Given the description of an element on the screen output the (x, y) to click on. 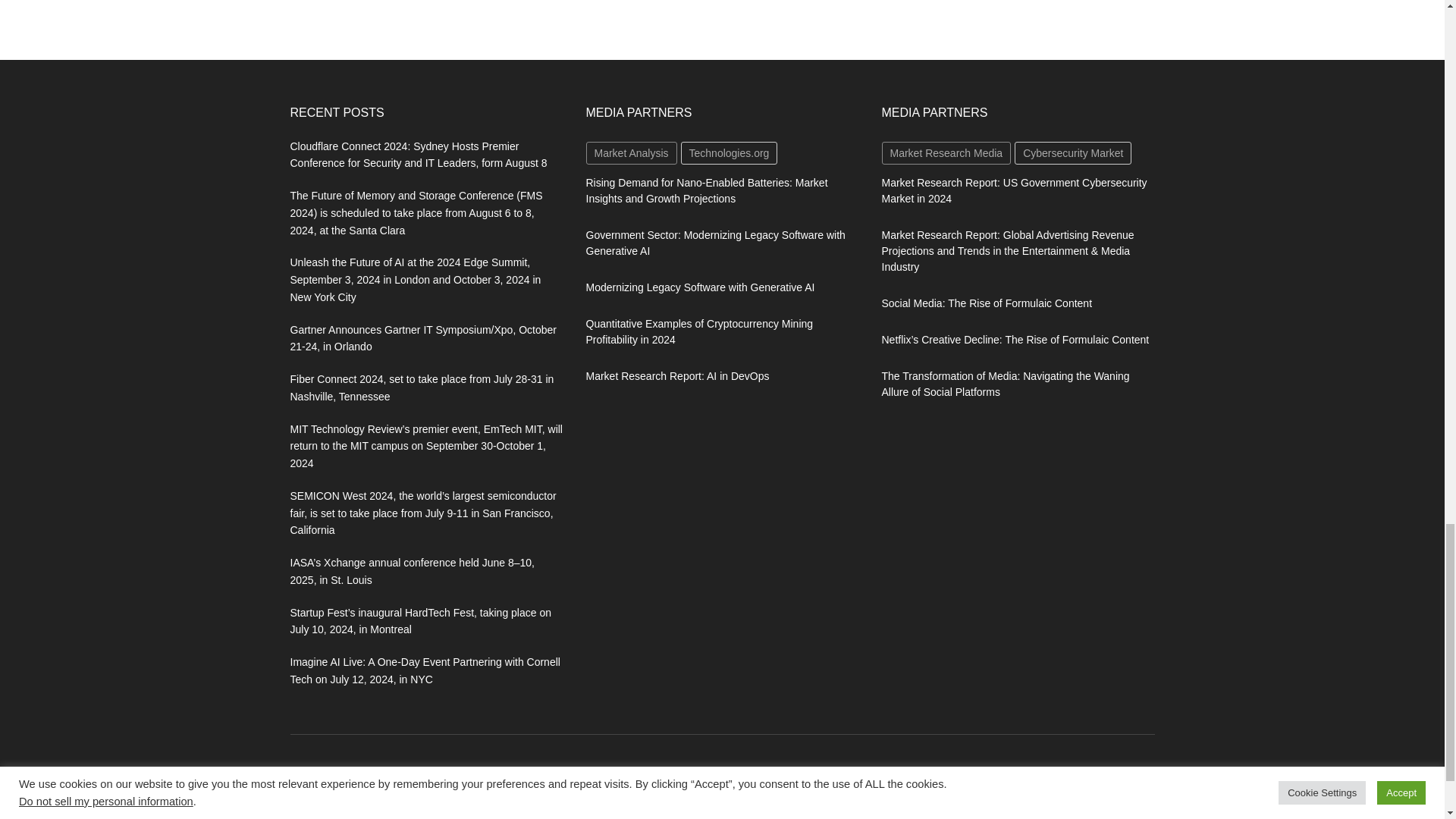
Market Research Report: AI in DevOps (676, 376)
Modernizing Legacy Software with Generative AI (699, 287)
Market Research Report: AI in DevOps (676, 376)
Modernizing Legacy Software with Generative AI (699, 287)
